Given the description of an element on the screen output the (x, y) to click on. 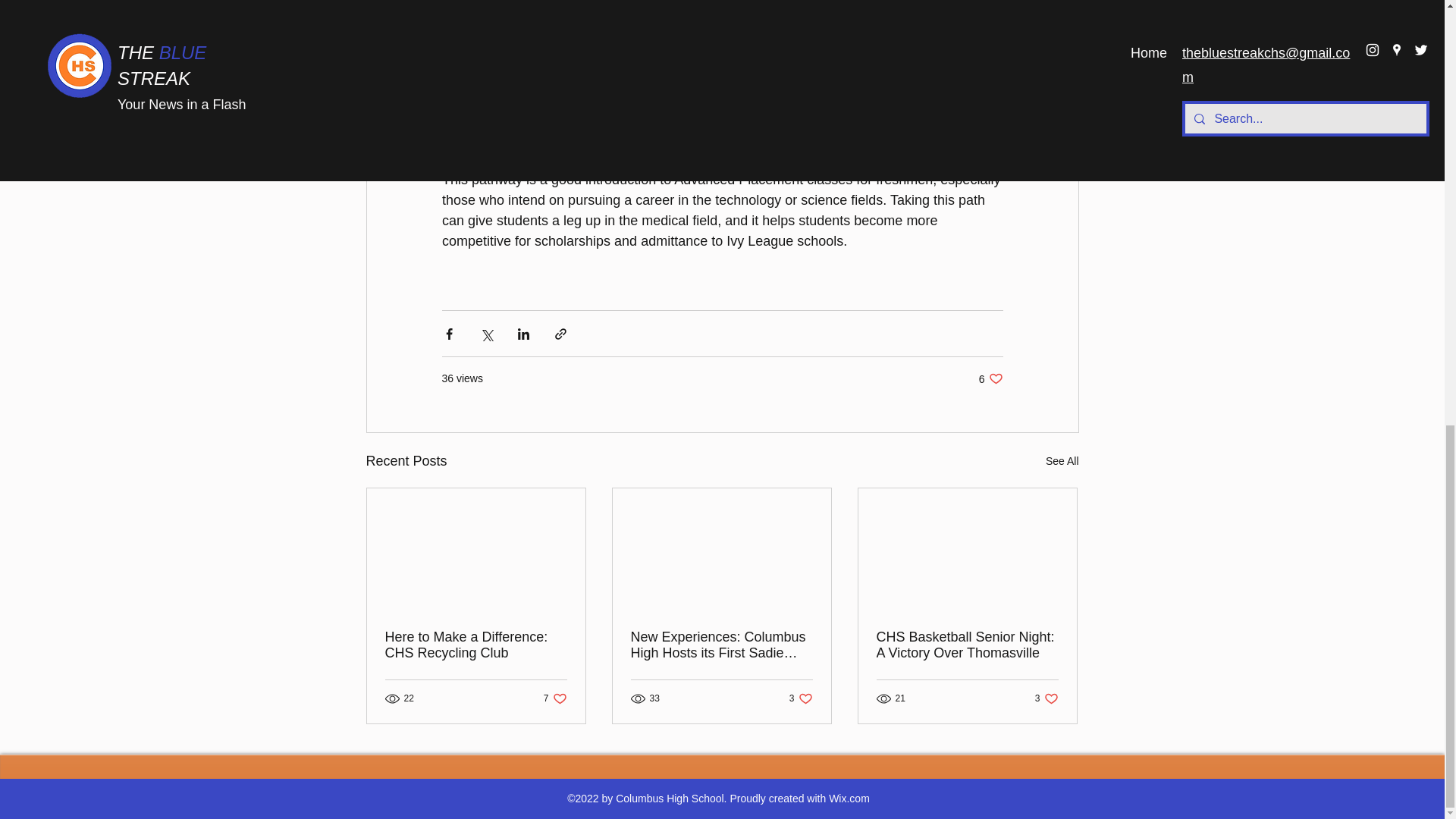
Here to Make a Difference: CHS Recycling Club (1046, 698)
See All (476, 644)
CHS Basketball Senior Night: A Victory Over Thomasville (1061, 461)
